Given the description of an element on the screen output the (x, y) to click on. 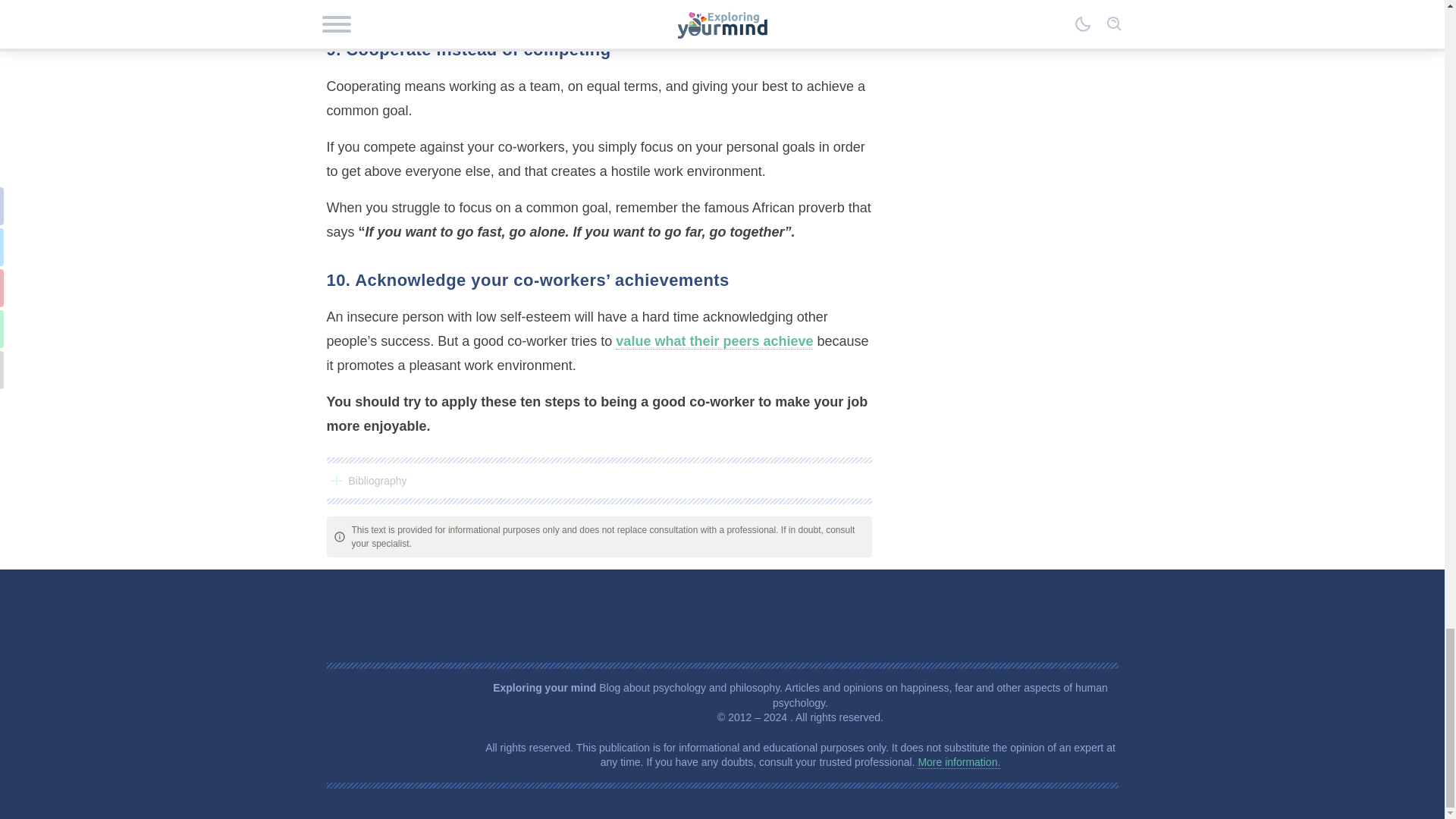
Bibliography (598, 480)
More information. (958, 762)
value what their peers achieve (713, 341)
